Given the description of an element on the screen output the (x, y) to click on. 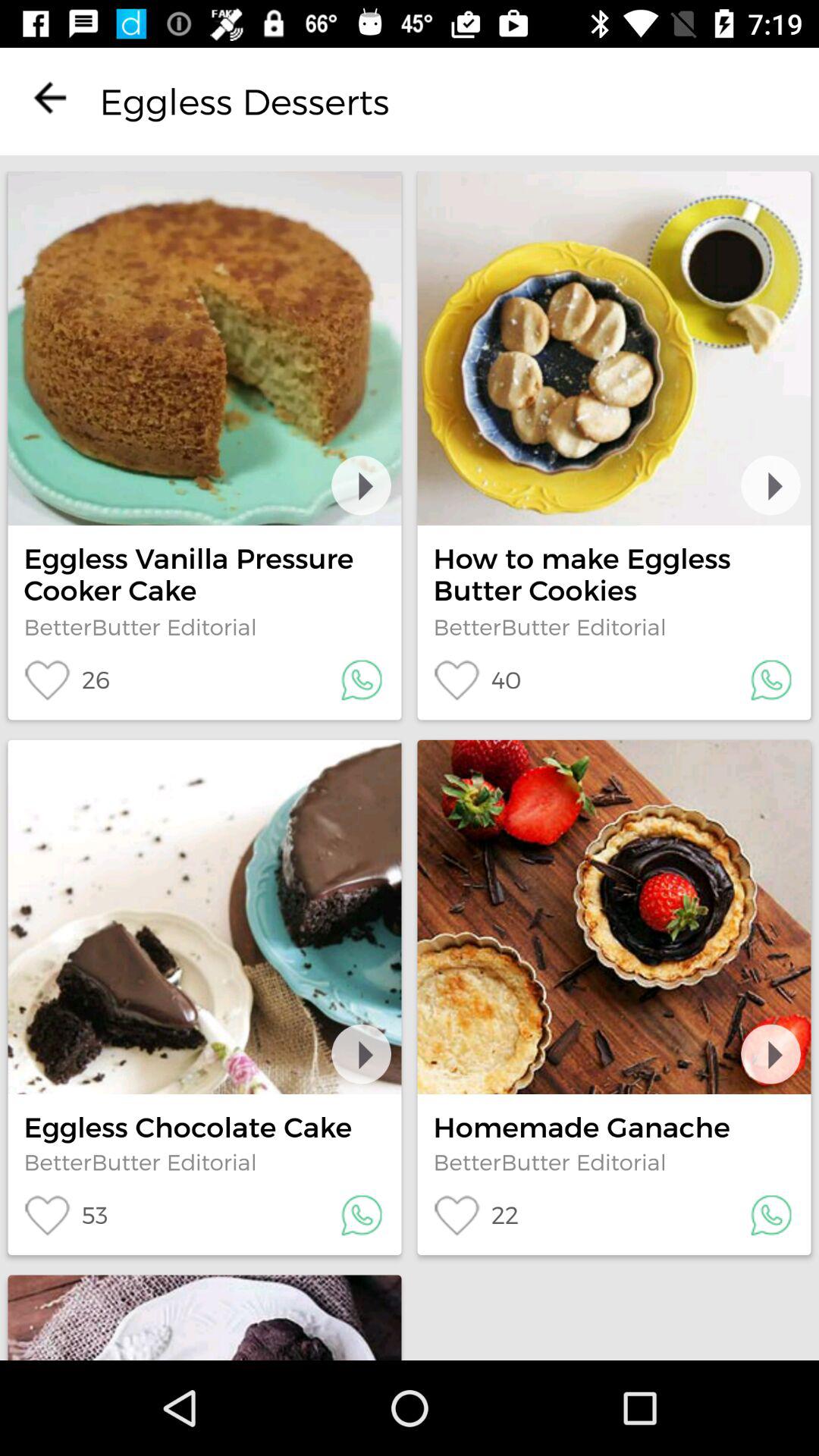
turn on the icon below the betterbutter editorial (65, 1215)
